Given the description of an element on the screen output the (x, y) to click on. 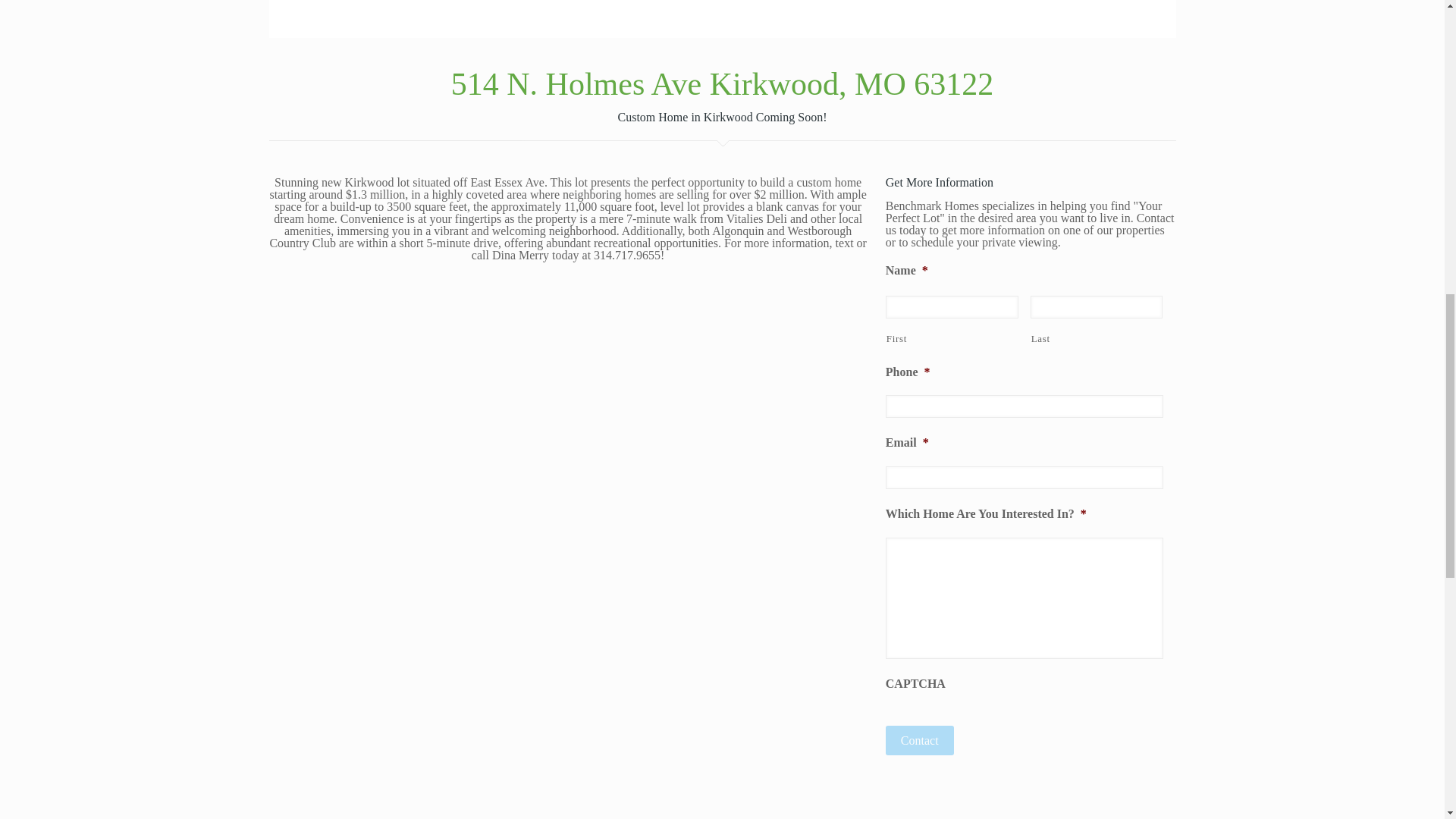
Contact (919, 740)
